Given the description of an element on the screen output the (x, y) to click on. 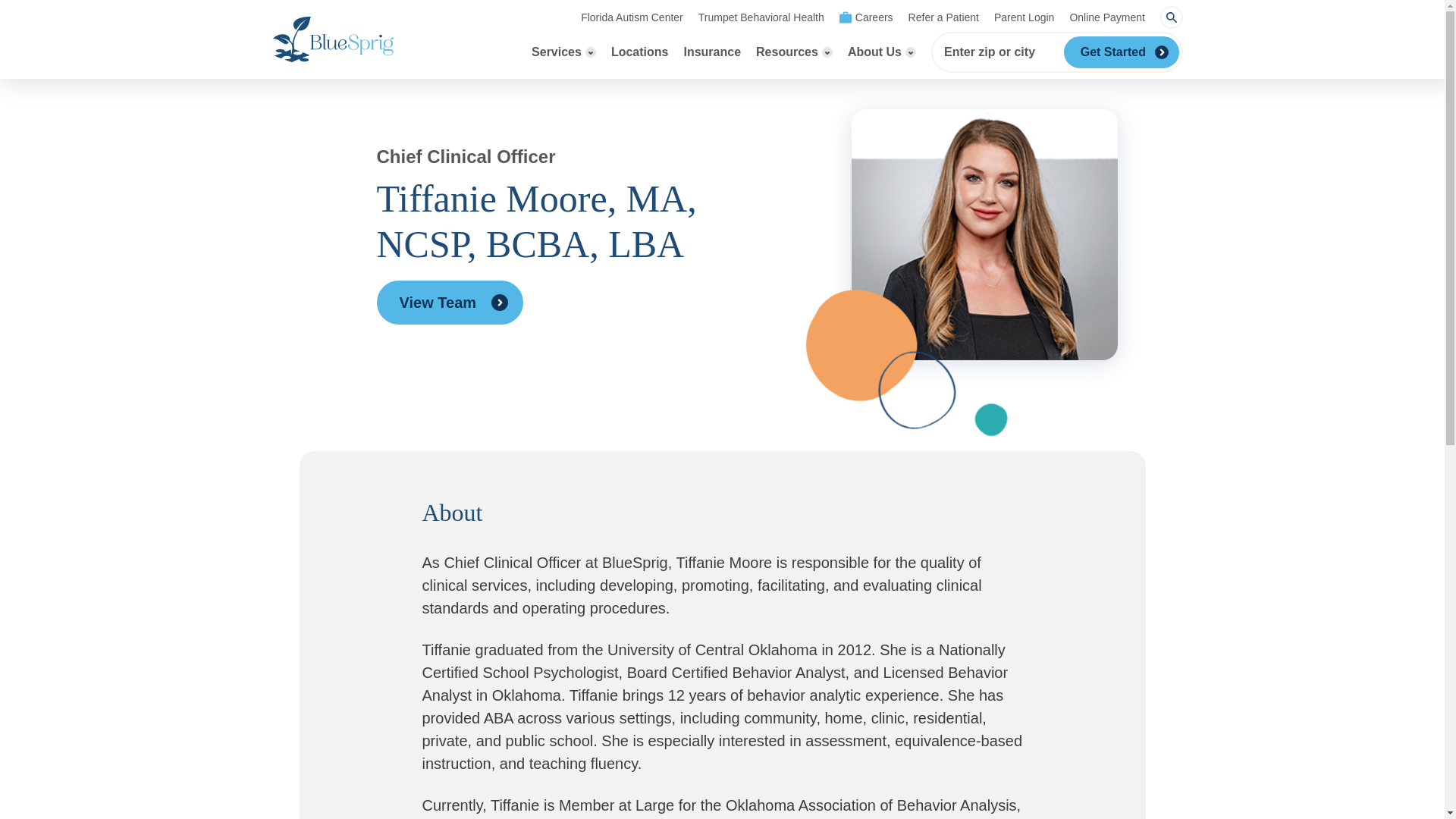
Bluesprig Autism (333, 39)
Insurance (711, 52)
on (563, 51)
Refer a Patient (943, 17)
Florida Autism Center (631, 17)
Careers (866, 17)
Return to Homepage (333, 39)
Online Payment (1106, 17)
Parent Login (1024, 17)
on (1171, 16)
